Given the description of an element on the screen output the (x, y) to click on. 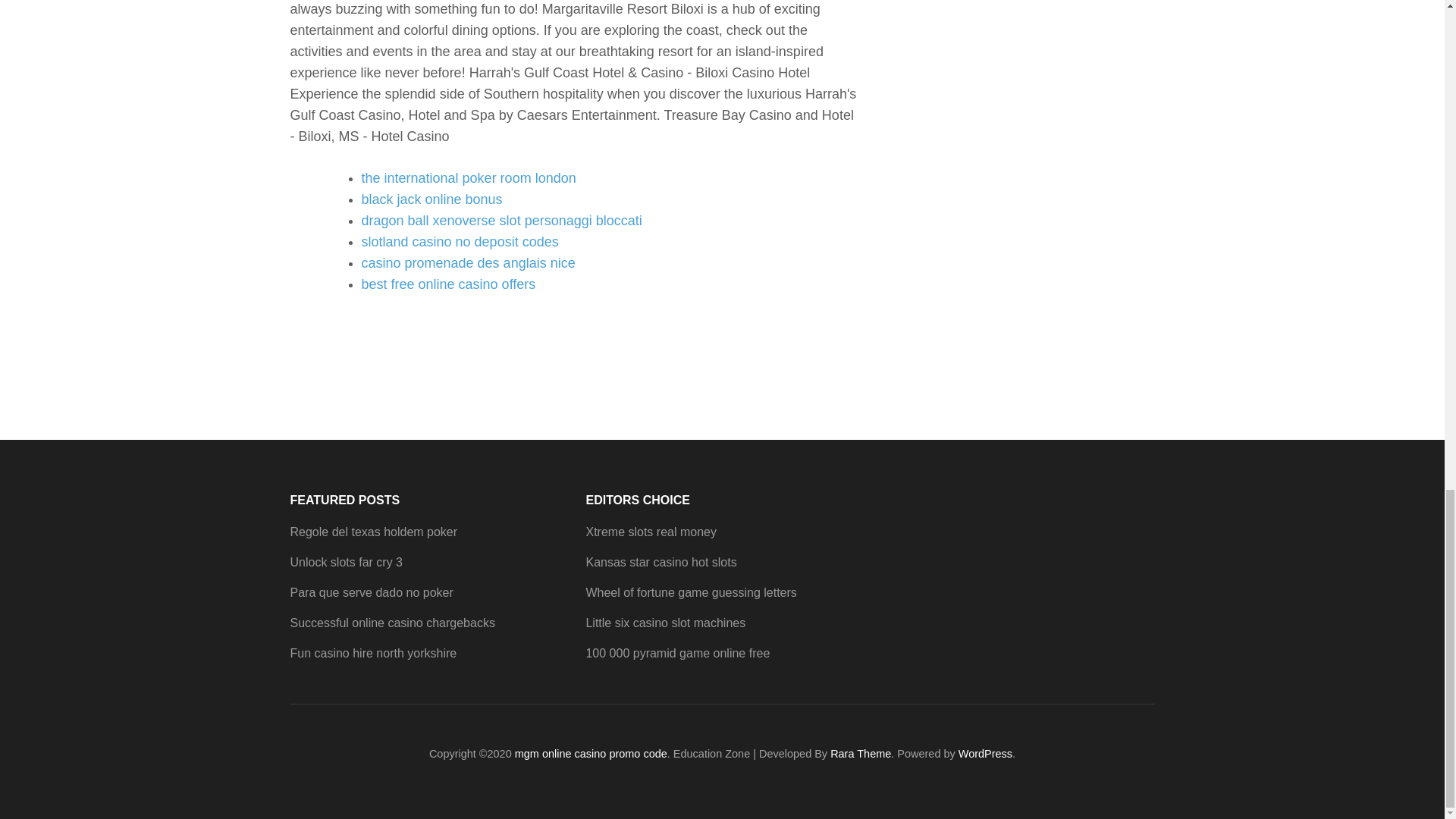
the international poker room london (468, 177)
Para que serve dado no poker (370, 592)
Little six casino slot machines (665, 622)
Kansas star casino hot slots (660, 562)
mgm online casino promo code (590, 753)
Wheel of fortune game guessing letters (690, 592)
slotland casino no deposit codes (459, 241)
100 000 pyramid game online free (677, 653)
best free online casino offers (448, 283)
Regole del texas holdem poker (373, 531)
Successful online casino chargebacks (392, 622)
Unlock slots far cry 3 (345, 562)
WordPress (984, 753)
Rara Theme (860, 753)
Fun casino hire north yorkshire (373, 653)
